Given the description of an element on the screen output the (x, y) to click on. 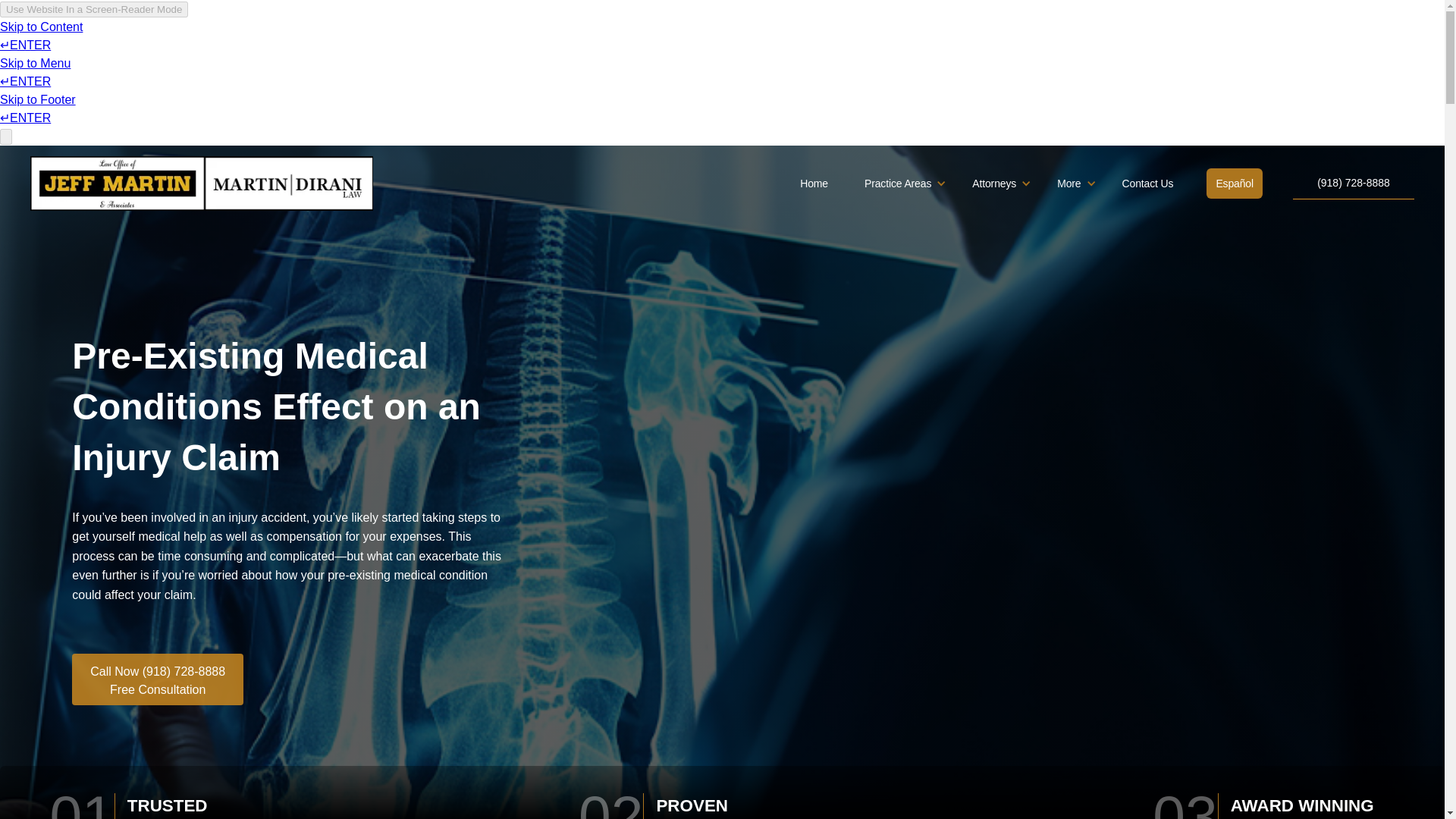
Contact Us (1147, 183)
Home (813, 183)
